Given the description of an element on the screen output the (x, y) to click on. 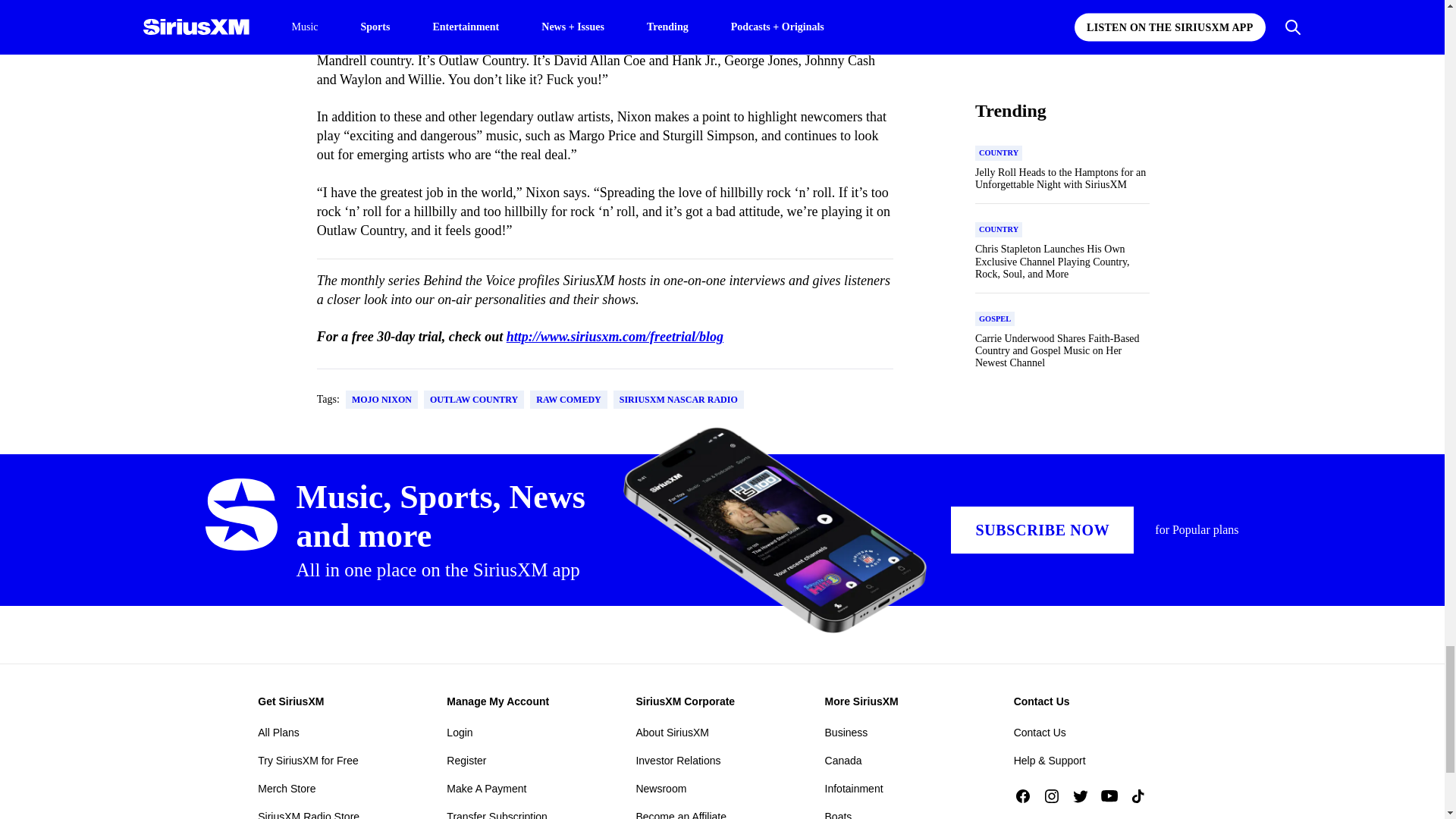
SIRIUSXM NASCAR RADIO (678, 399)
OUTLAW COUNTRY (473, 399)
MOJO NIXON (381, 399)
RAW COMEDY (568, 399)
